Given the description of an element on the screen output the (x, y) to click on. 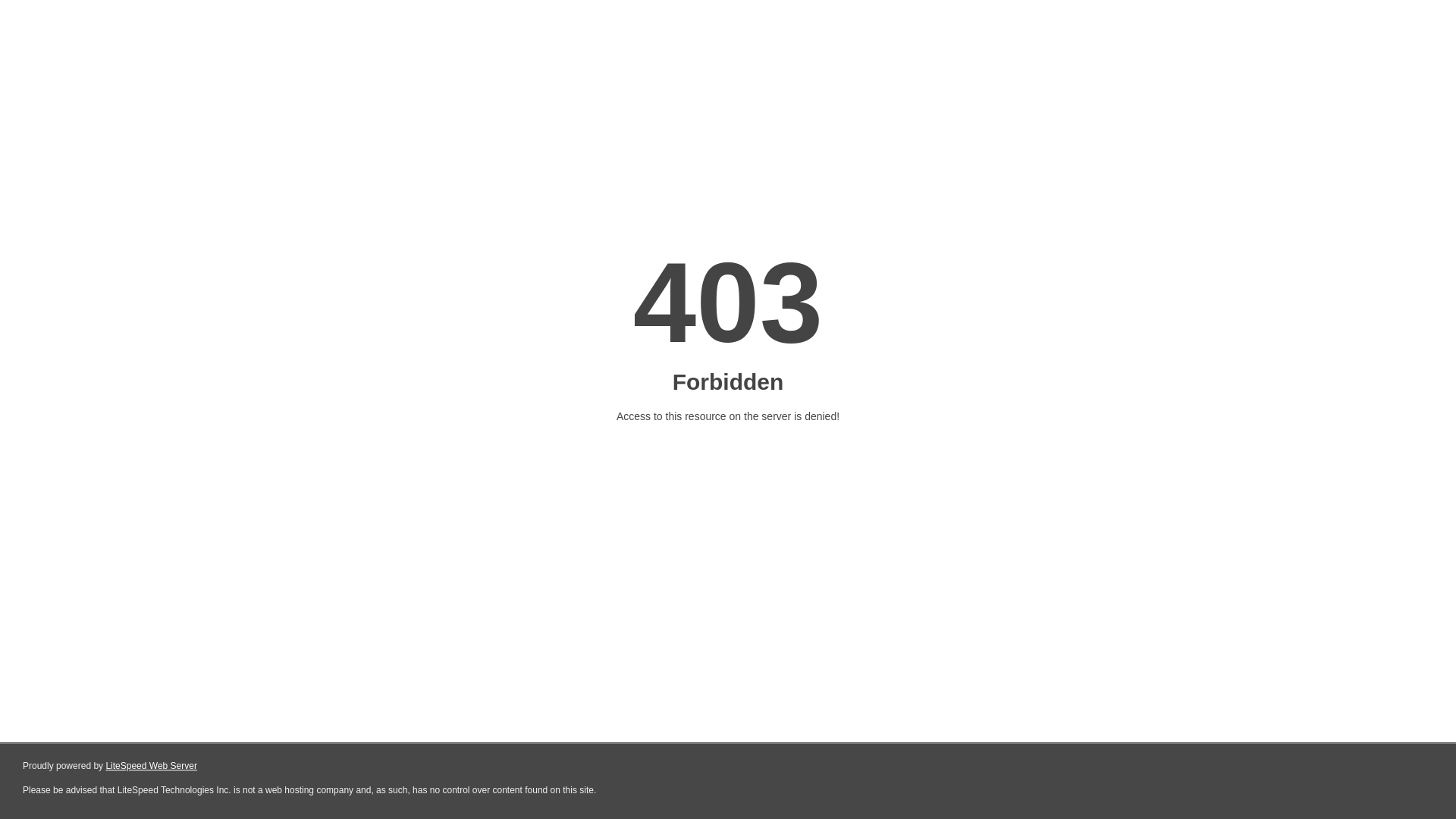
LiteSpeed Web Server (150, 765)
